Given the description of an element on the screen output the (x, y) to click on. 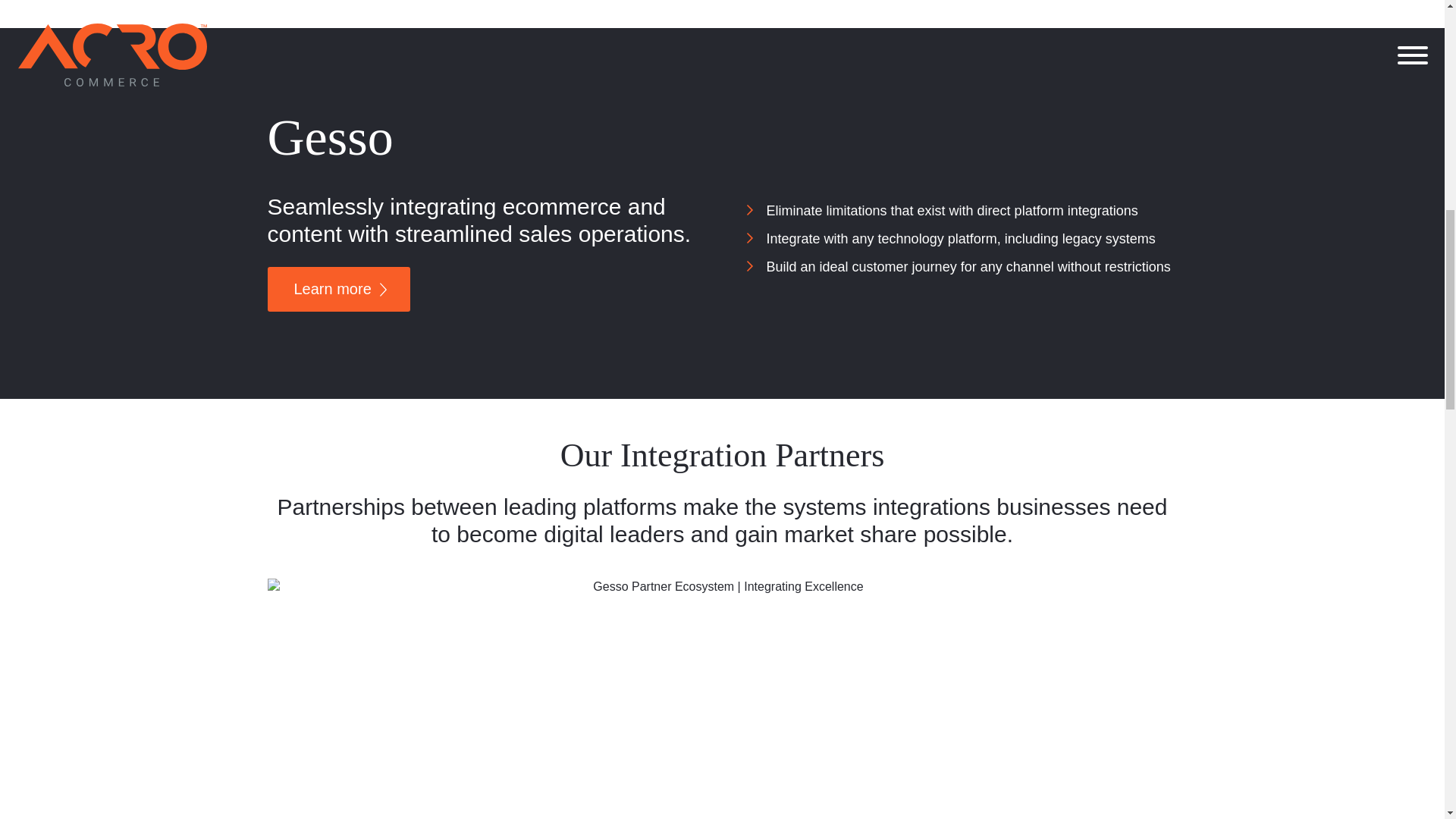
Learn more (338, 289)
